Given the description of an element on the screen output the (x, y) to click on. 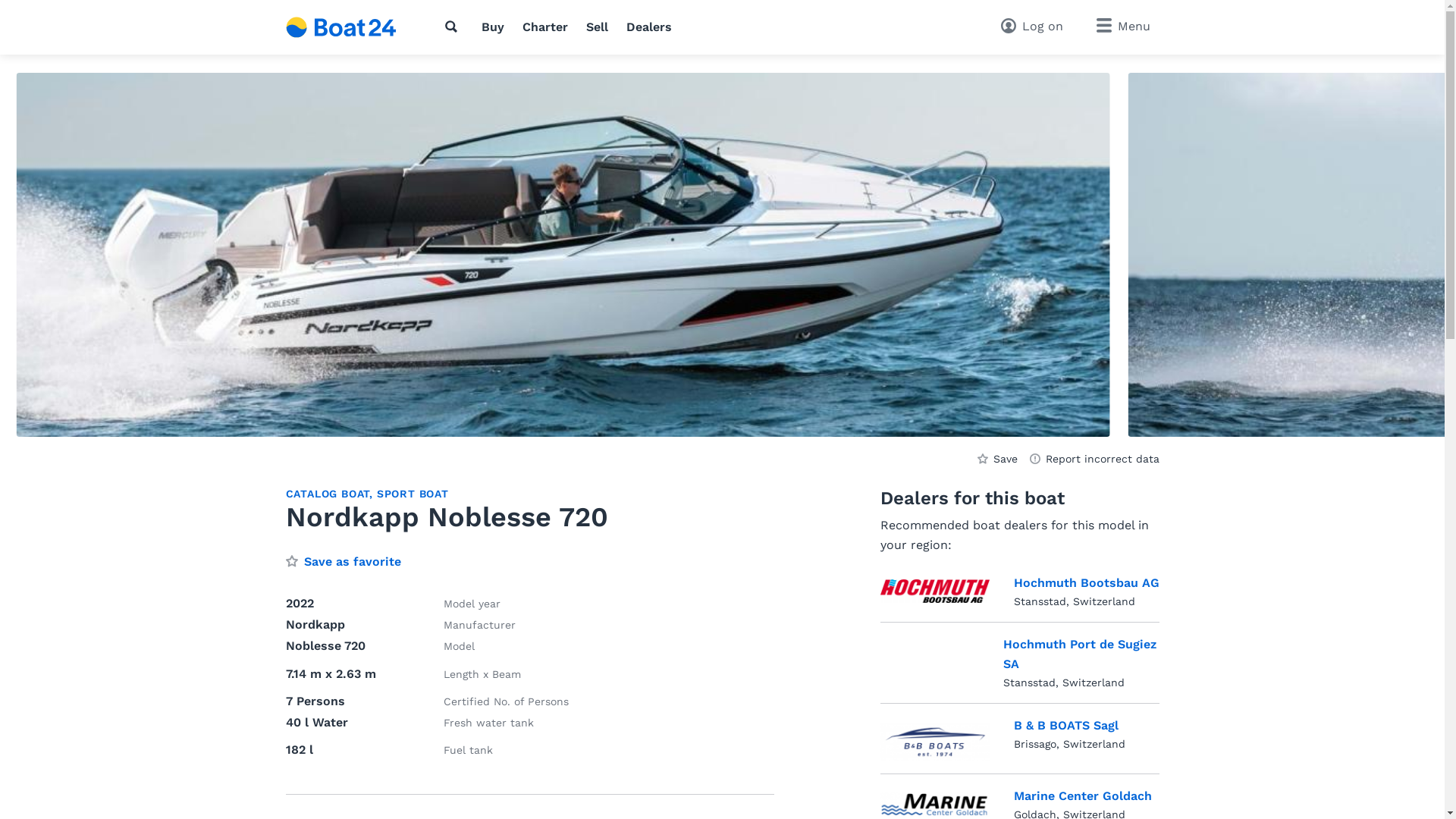
Sell Element type: text (597, 26)
Hochmuth Port de Sugiez SA Element type: text (1081, 654)
B & B BOATS Sagl Element type: text (1065, 725)
B & B BOATS Sagl Element type: hover (933, 741)
Charter Element type: text (544, 26)
Marine Center Goldach Element type: text (1082, 796)
Dealers Element type: text (648, 26)
Used boat market Element type: hover (340, 26)
Menu Element type: text (1123, 25)
Hochmuth Bootsbau AG Element type: hover (933, 594)
Buy Element type: text (492, 26)
Report incorrect data Element type: text (1094, 458)
Hochmuth Bootsbau AG Element type: text (1085, 583)
Log on Element type: text (1031, 27)
